Given the description of an element on the screen output the (x, y) to click on. 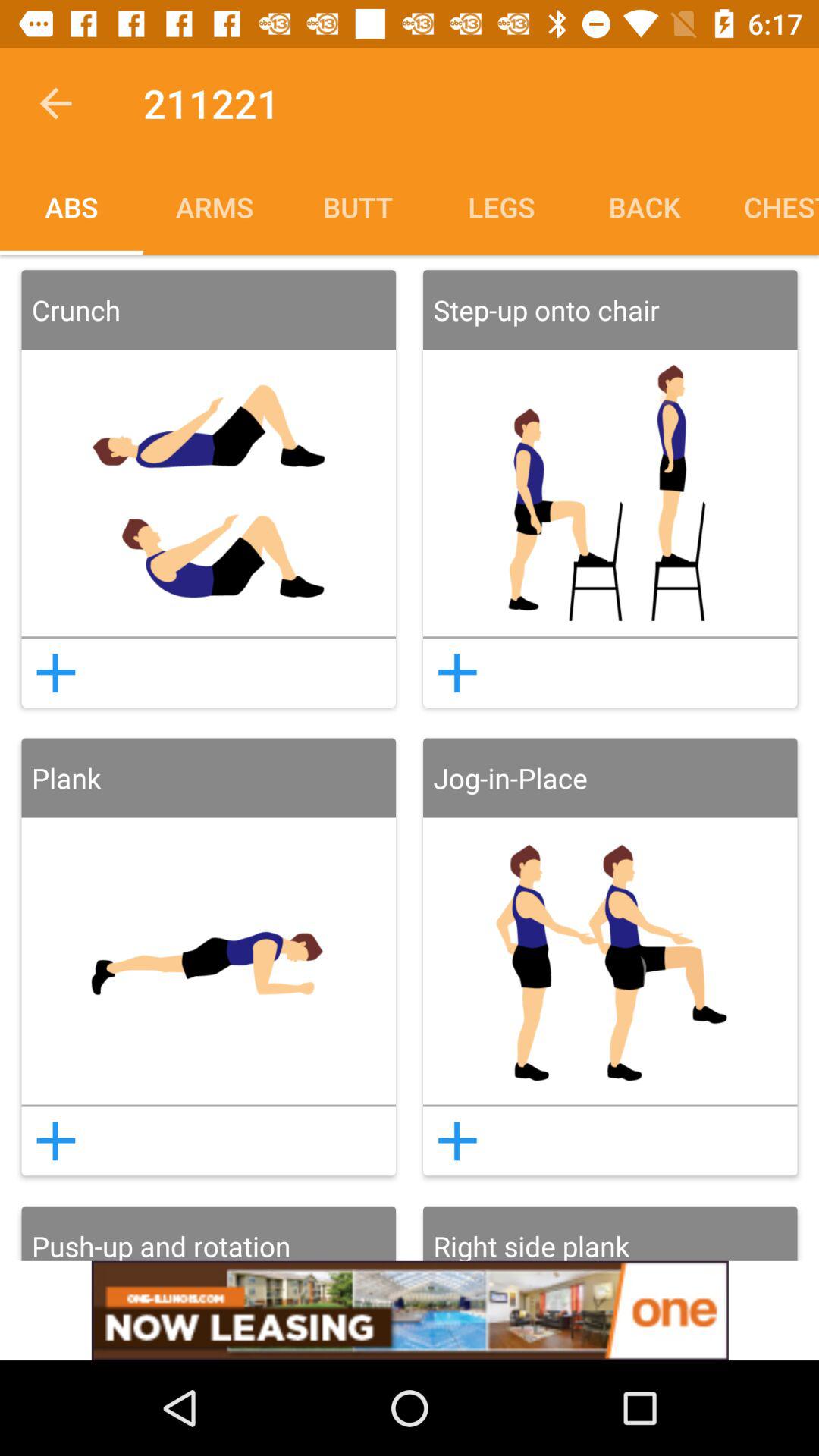
add rutine (457, 1140)
